Given the description of an element on the screen output the (x, y) to click on. 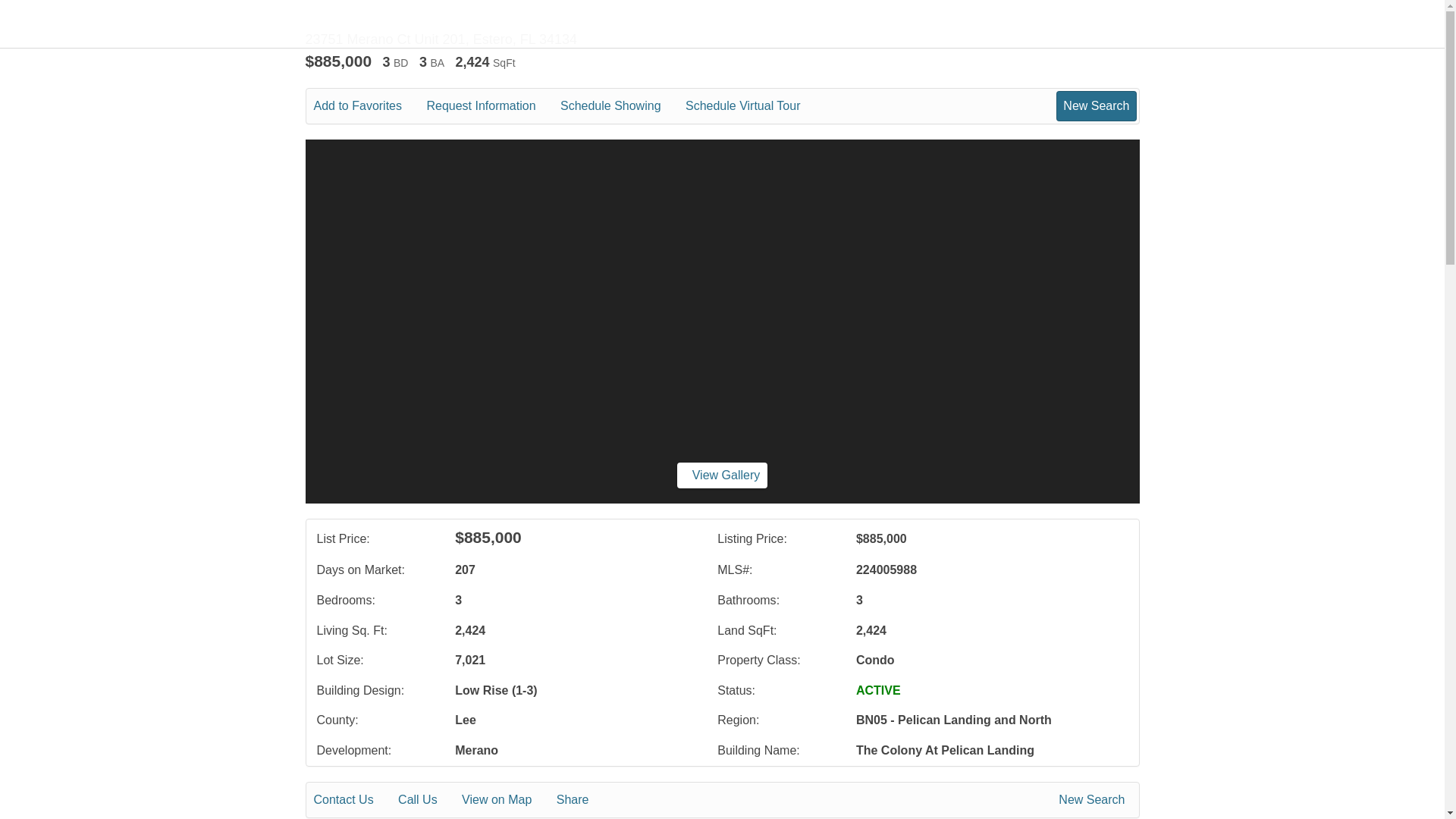
View Gallery (722, 474)
Request Information (491, 106)
New Search (1096, 105)
Share (583, 799)
Contact Us (354, 799)
Schedule Showing (621, 106)
View Gallery (722, 475)
Call Us (427, 799)
New Search (1094, 799)
View on Map (507, 799)
Add to Favorites (368, 106)
Schedule Virtual Tour (753, 106)
